Given the description of an element on the screen output the (x, y) to click on. 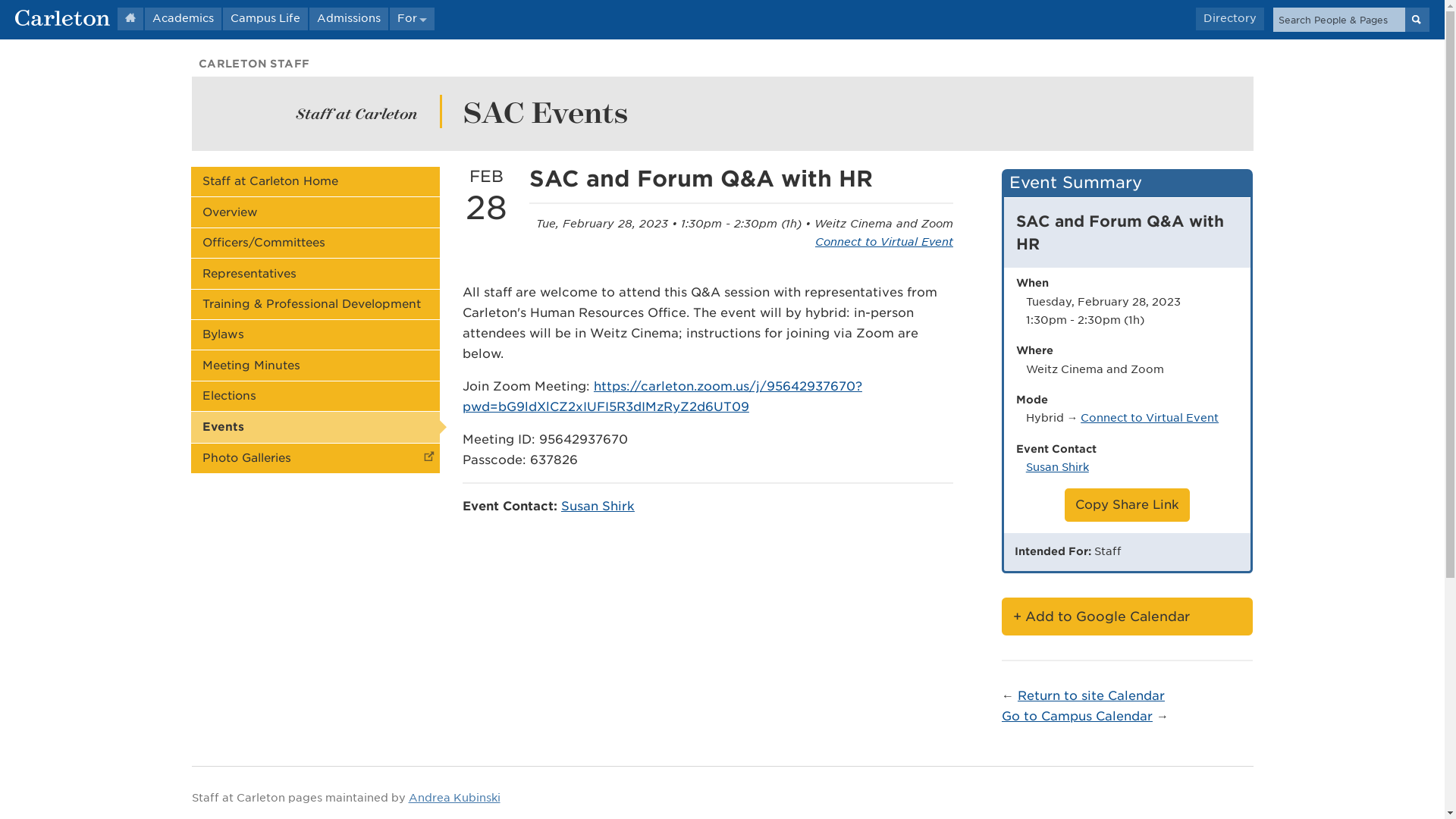
CARLETON STAFF (254, 63)
Admissions (348, 18)
Directory (1229, 18)
Connect to Virtual Event (1149, 417)
Meeting Minutes (314, 365)
Return to site Calendar (1090, 695)
Go to Campus Calendar (1077, 716)
Copy Share Link (1126, 505)
Campus Life (264, 18)
Bylaws (314, 334)
